Given the description of an element on the screen output the (x, y) to click on. 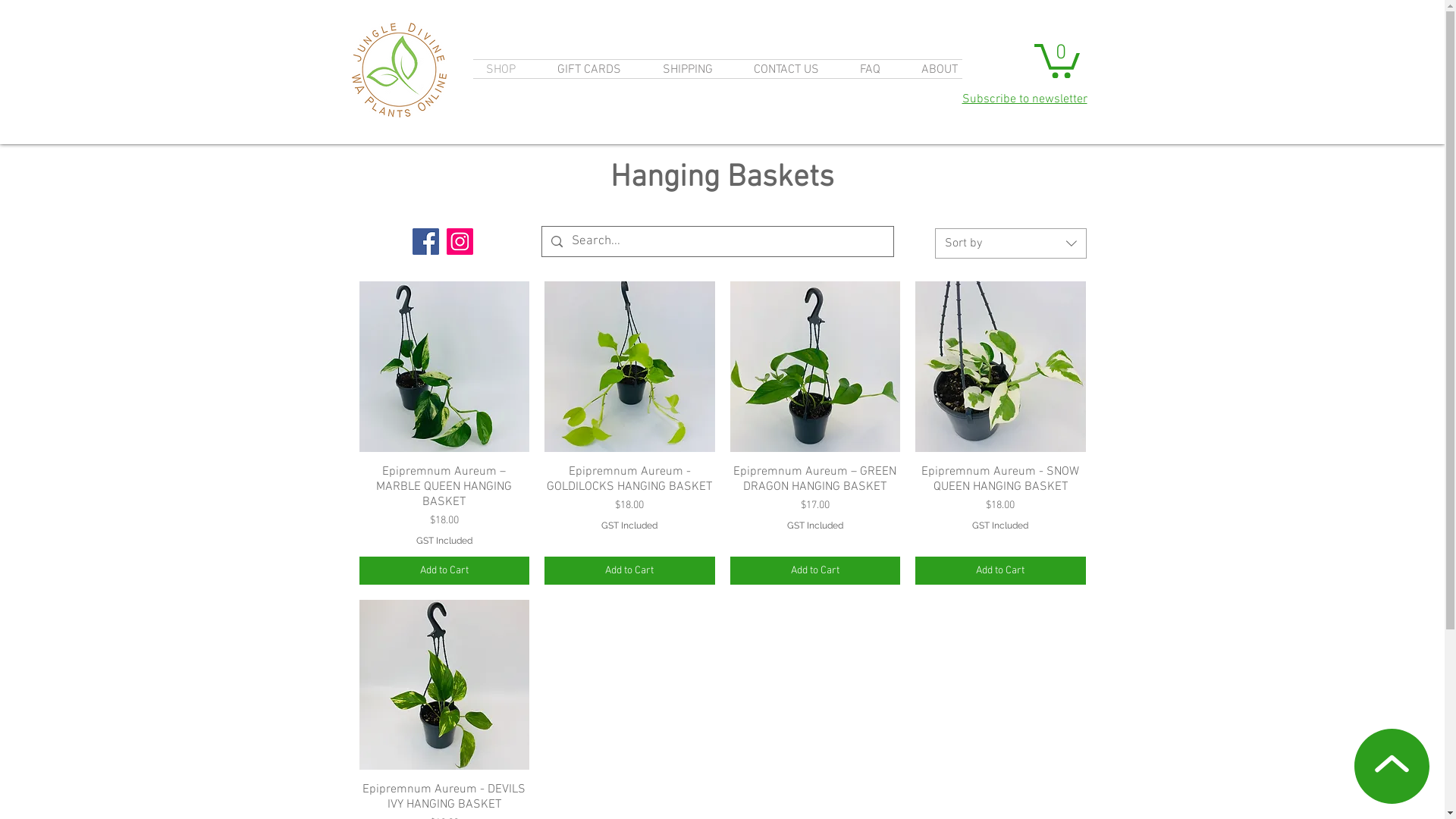
Add to Cart Element type: text (444, 570)
CONTACT US Element type: text (785, 70)
Add to Cart Element type: text (629, 570)
SHIPPING Element type: text (686, 70)
0 Element type: text (1056, 59)
ABOUT Element type: text (939, 70)
Add to Cart Element type: text (1000, 570)
Add to Cart Element type: text (814, 570)
SHOP Element type: text (500, 70)
Sort by Element type: text (1009, 243)
Subscribe to newsletter Element type: text (1023, 98)
FAQ Element type: text (869, 70)
GIFT CARDS Element type: text (589, 70)
